Given the description of an element on the screen output the (x, y) to click on. 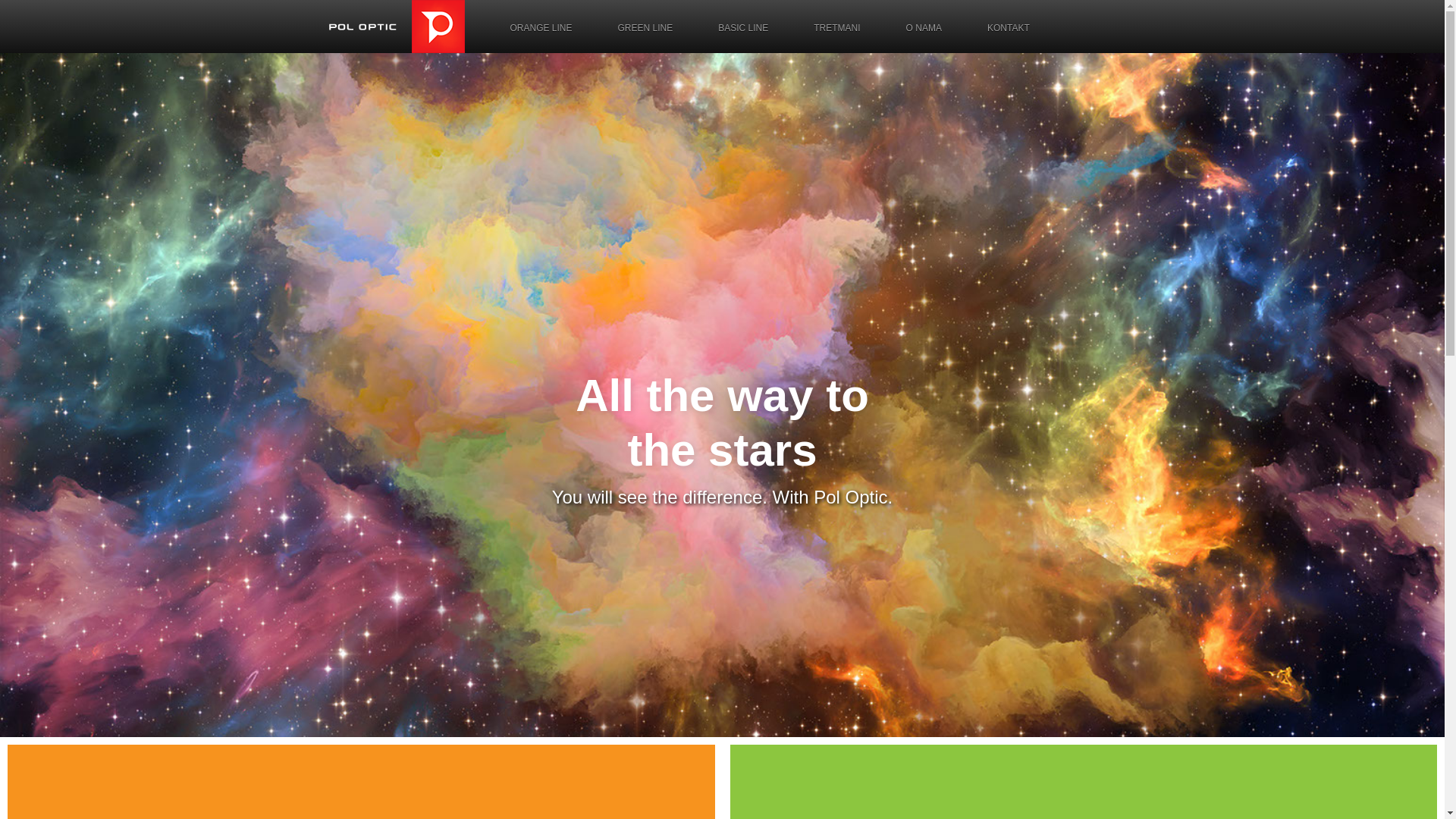
BASIC LINE Element type: text (742, 27)
KONTAKT Element type: text (1008, 27)
O NAMA Element type: text (923, 27)
GREEN LINE Element type: text (645, 27)
ORANGE LINE Element type: text (540, 27)
TRETMANI Element type: text (836, 27)
